Given the description of an element on the screen output the (x, y) to click on. 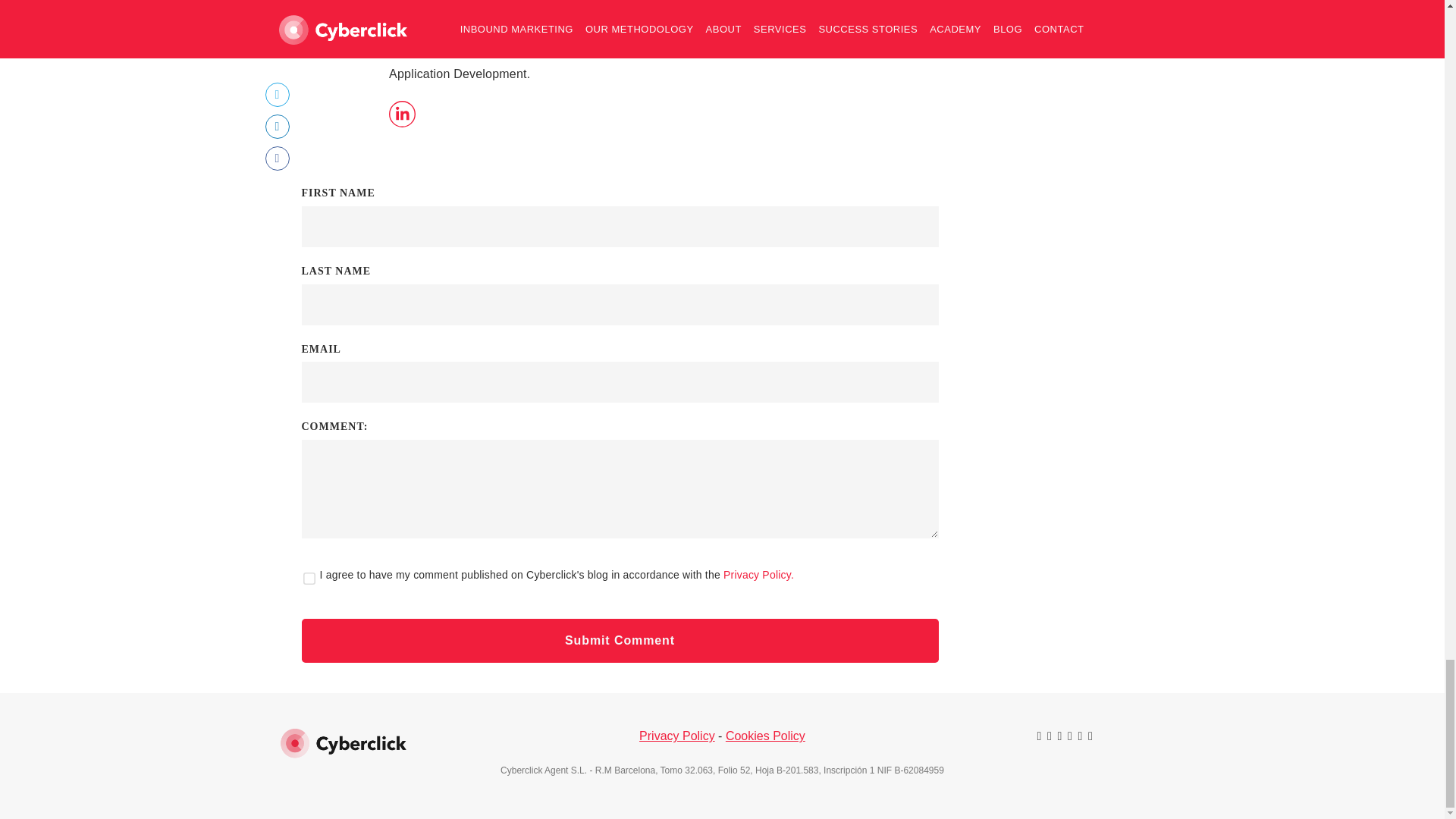
true (310, 580)
Submit Comment (620, 640)
logo Cyberclick (343, 743)
